Given the description of an element on the screen output the (x, y) to click on. 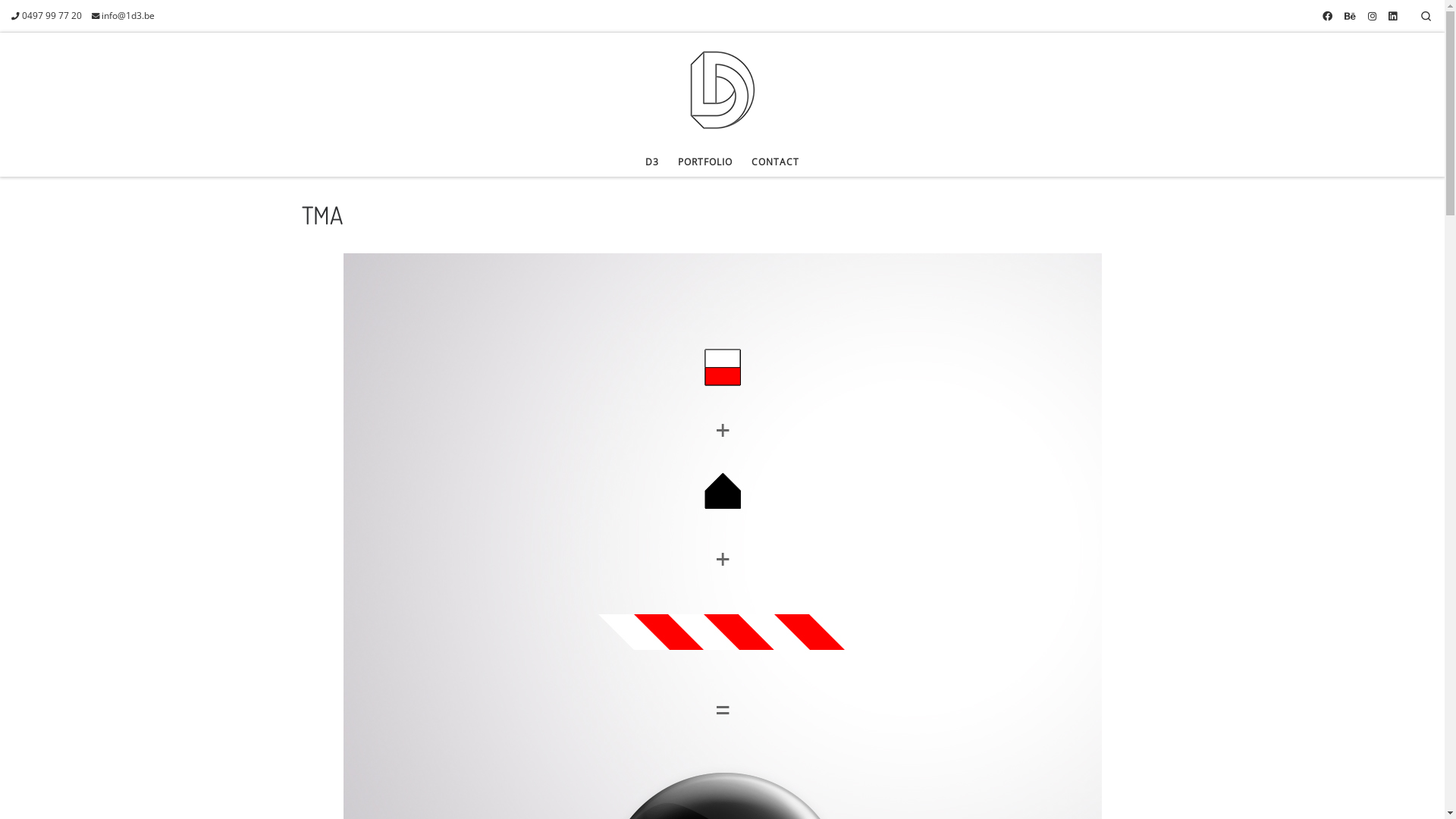
Search Element type: text (1426, 15)
Suivez-nous sur Facebook Element type: hover (1327, 15)
CONTACT Element type: text (775, 161)
Suivez-nous sur Behance Element type: hover (1349, 15)
info@1d3.be Element type: text (123, 15)
D3 Element type: text (652, 161)
PORTFOLIO Element type: text (705, 161)
Skip to content Element type: text (54, 20)
Suivez-moi sur LinkedIn Element type: hover (1392, 15)
Suivez-moi sur Instagram Element type: hover (1372, 15)
0497 99 77 20 Element type: text (46, 15)
